Given the description of an element on the screen output the (x, y) to click on. 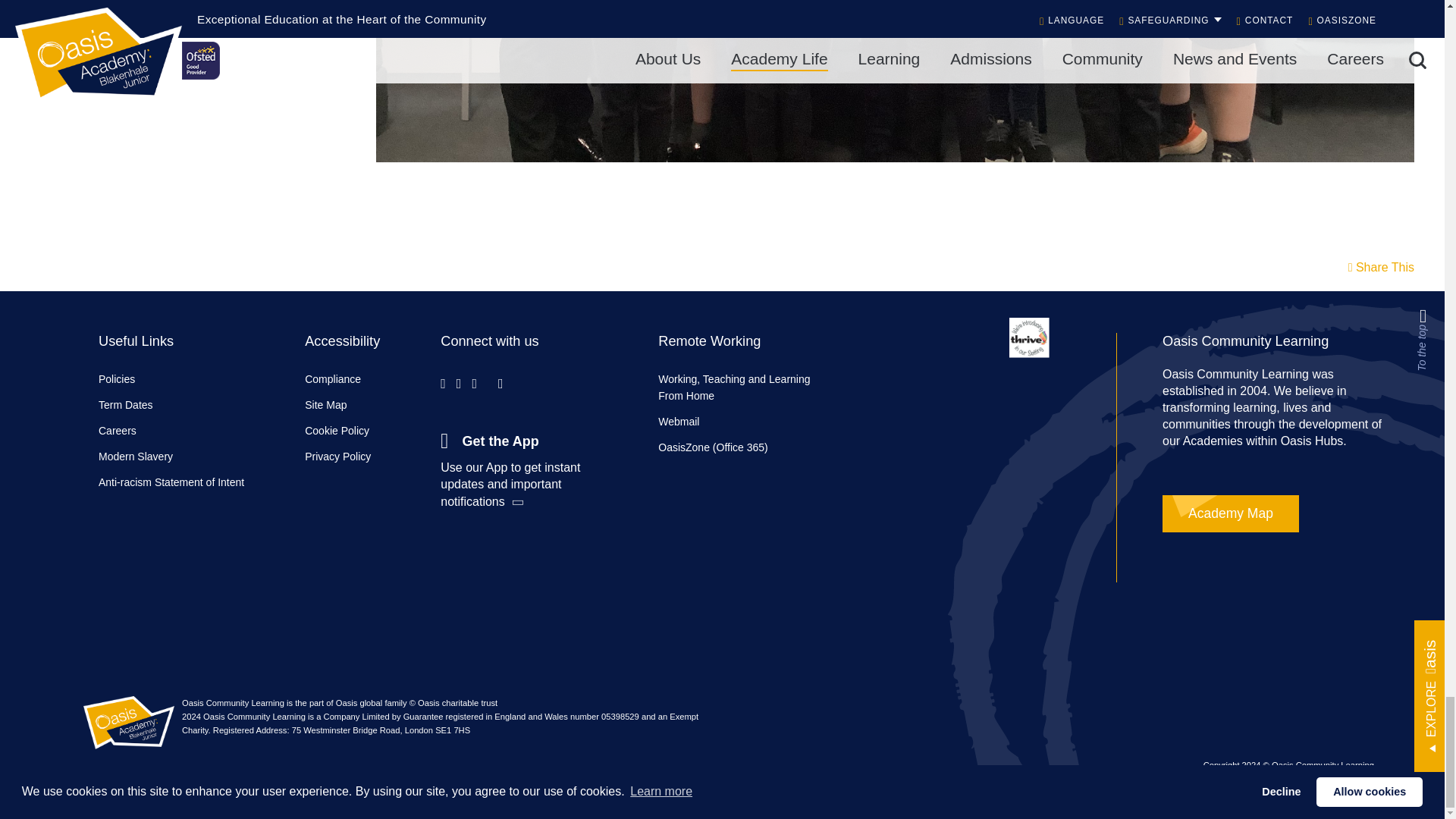
Powered by Finalsite opens in a new window (722, 808)
